Given the description of an element on the screen output the (x, y) to click on. 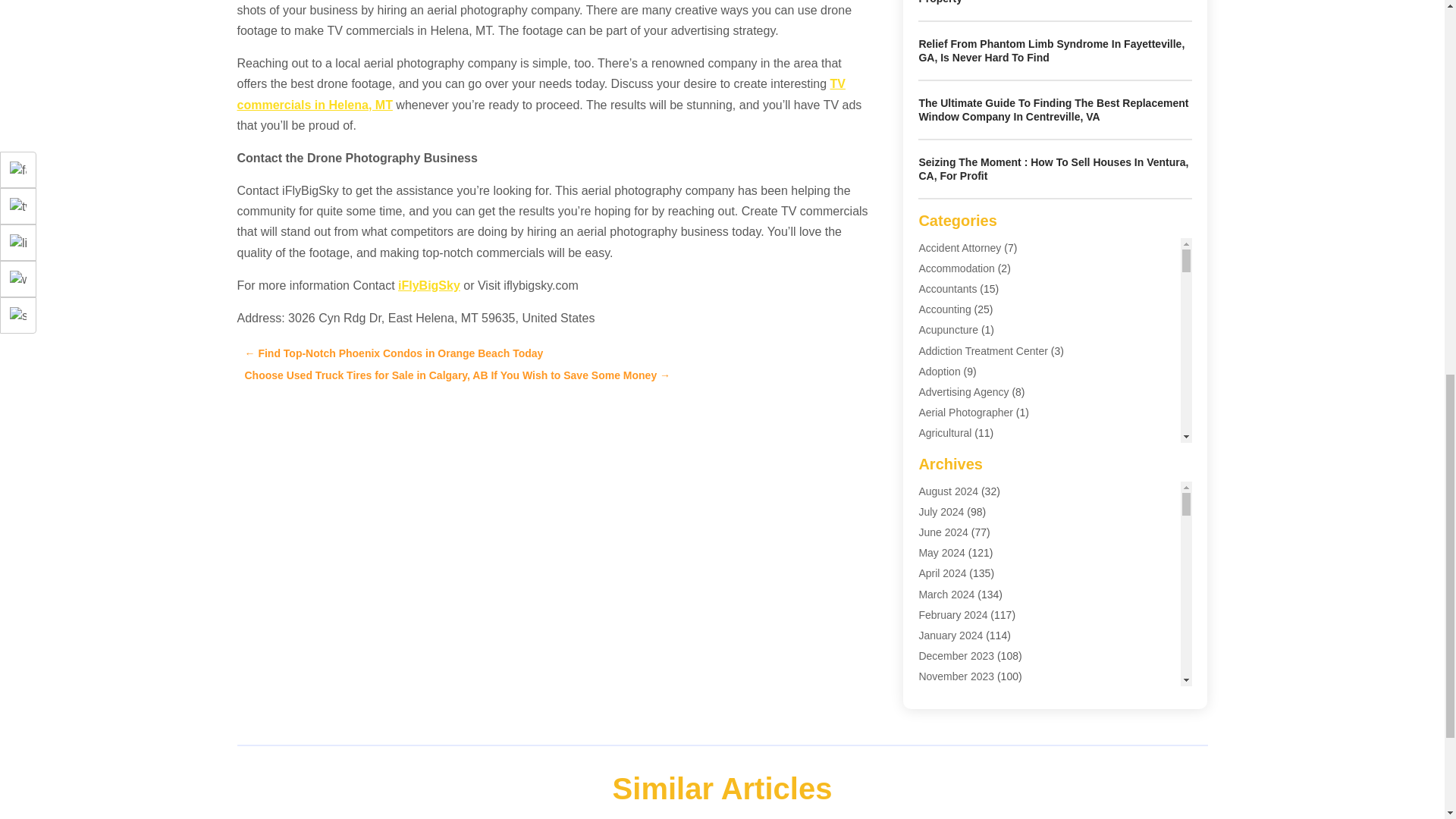
South Florida Homes For Sale: Find The Right Property (1034, 2)
Accident Attorney (959, 247)
Adoption (938, 371)
Accountants (947, 288)
Advertising Agency (963, 391)
Acupuncture (948, 329)
Aerial Photographer (965, 412)
